Given the description of an element on the screen output the (x, y) to click on. 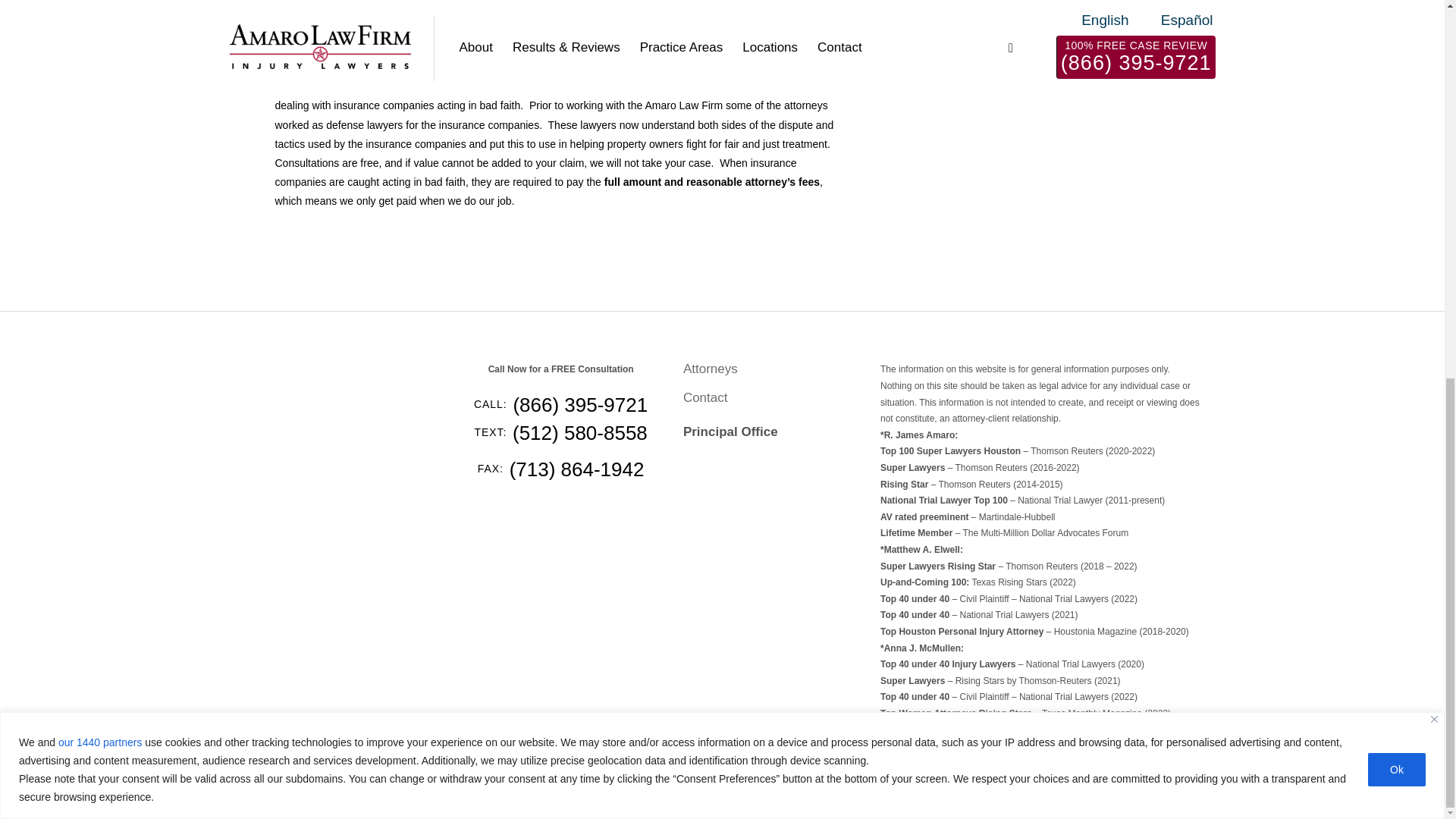
Ok (1396, 68)
our 1440 partners (100, 41)
mylocation (763, 516)
